Given the description of an element on the screen output the (x, y) to click on. 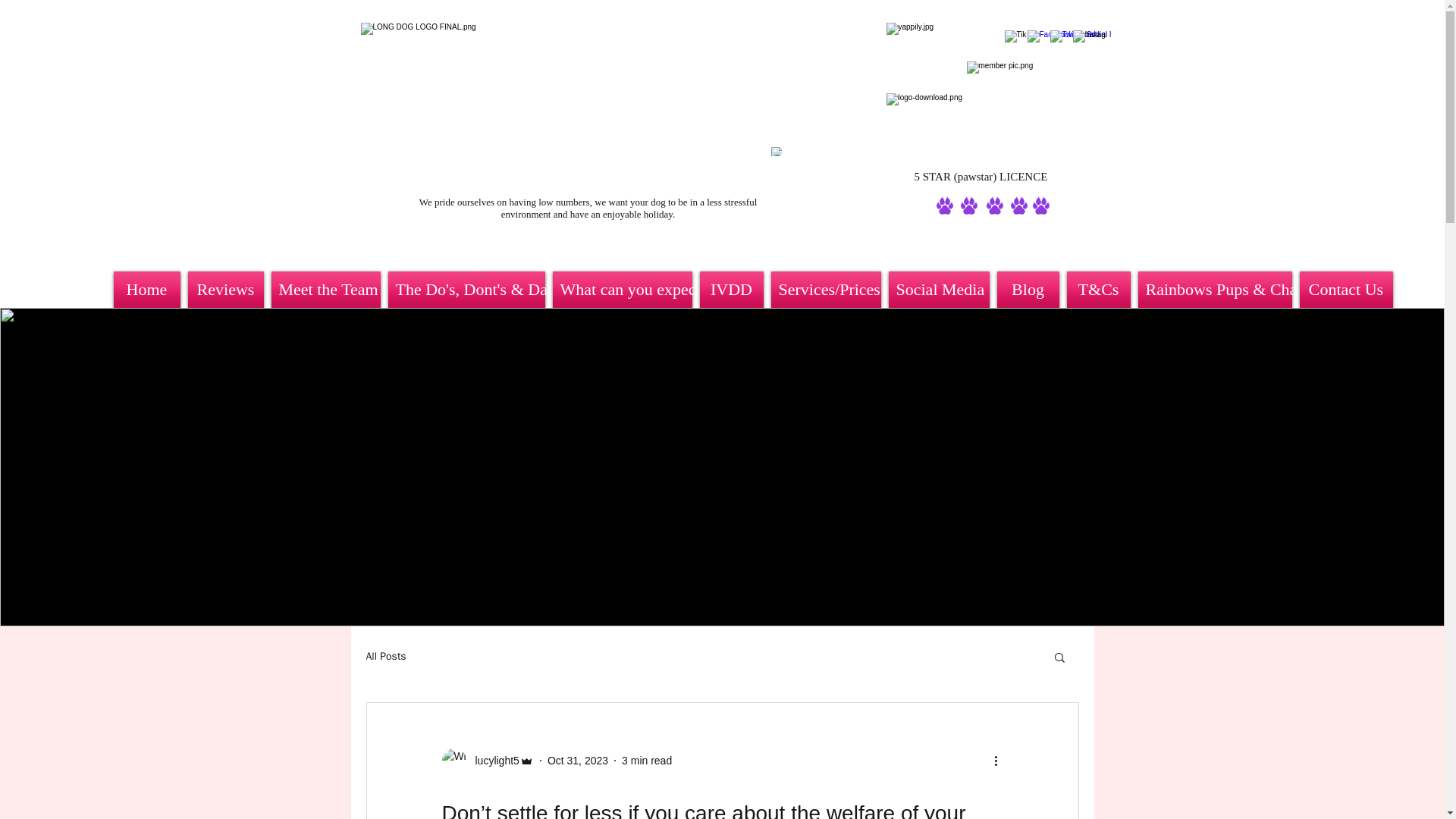
Meet the Team (325, 289)
IVDD (731, 289)
Social Media (937, 289)
Contact Us (1343, 289)
What can you expect? (621, 289)
Blog (1027, 289)
Oct 31, 2023 (577, 759)
Home (148, 289)
Reviews (224, 289)
lucylight5 (491, 760)
